Given the description of an element on the screen output the (x, y) to click on. 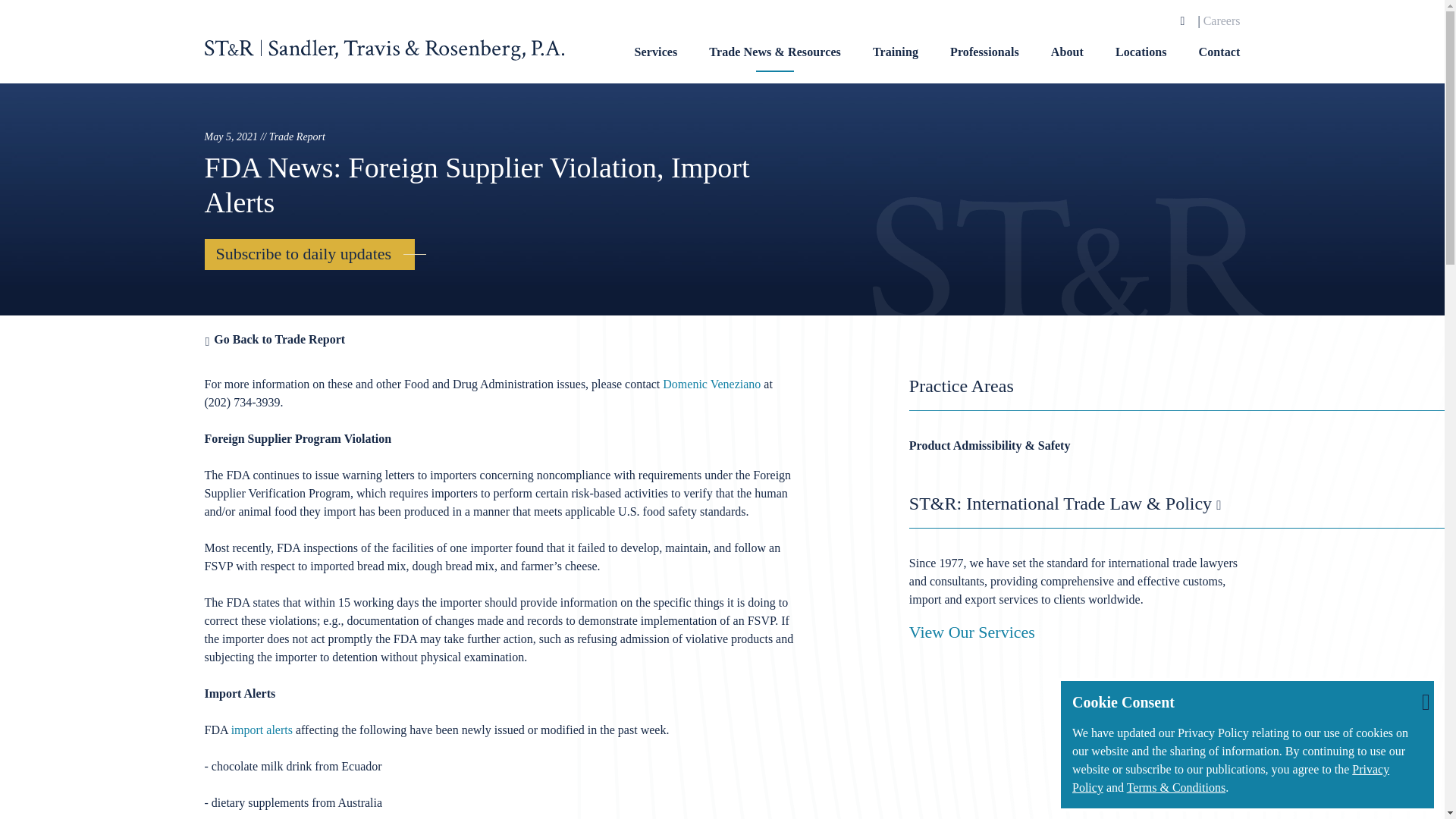
Services (656, 62)
Careers (1222, 19)
Search (1182, 21)
